Given the description of an element on the screen output the (x, y) to click on. 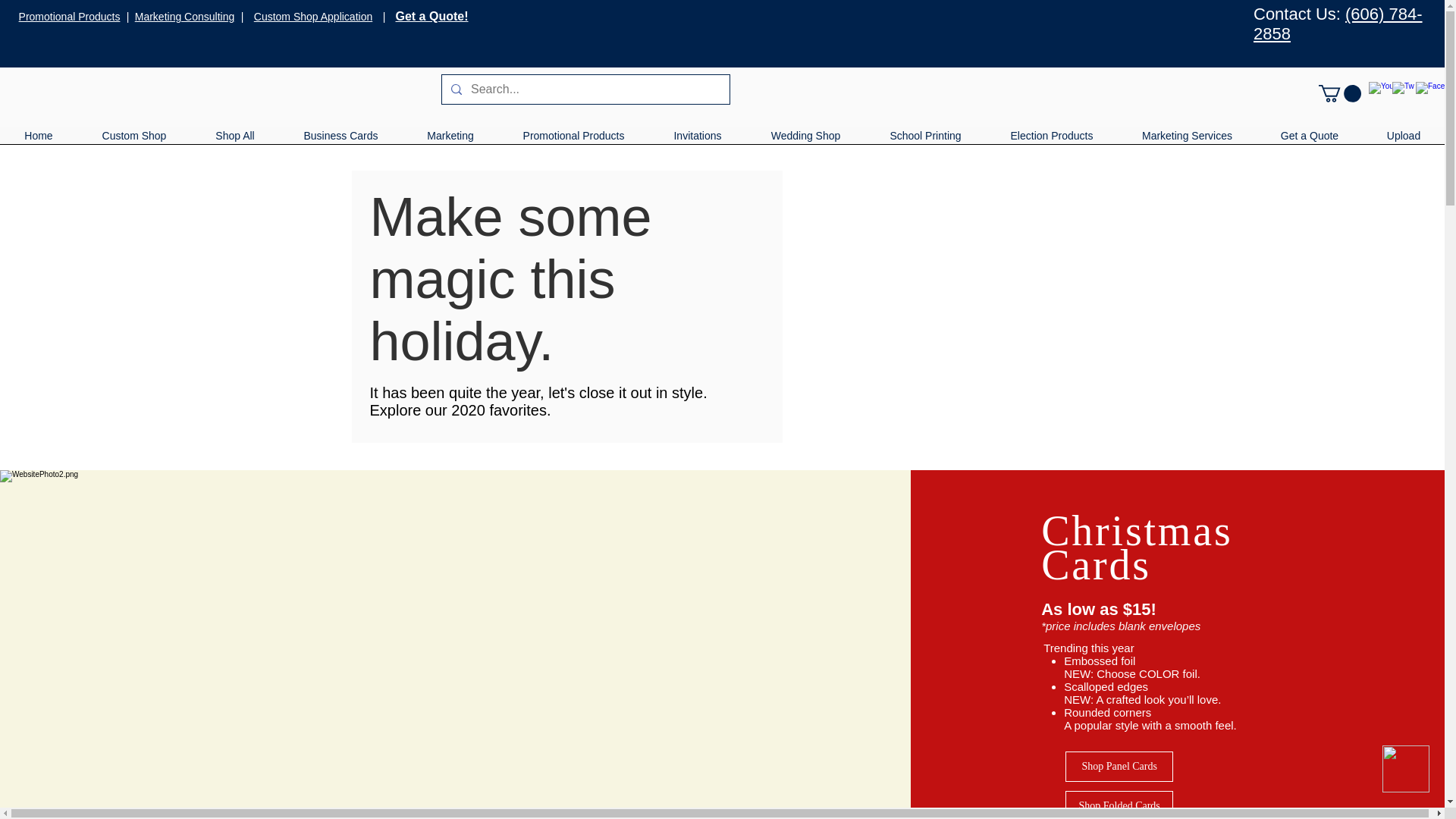
Custom Shop Application (312, 16)
Shop Panel Cards (1119, 766)
Get a Quote (1309, 140)
Upload (1403, 140)
Promotional Products (69, 16)
Home (38, 140)
Custom Shop (133, 140)
Marketing Services (1187, 140)
Election Products (1051, 140)
Shop All (234, 140)
